Given the description of an element on the screen output the (x, y) to click on. 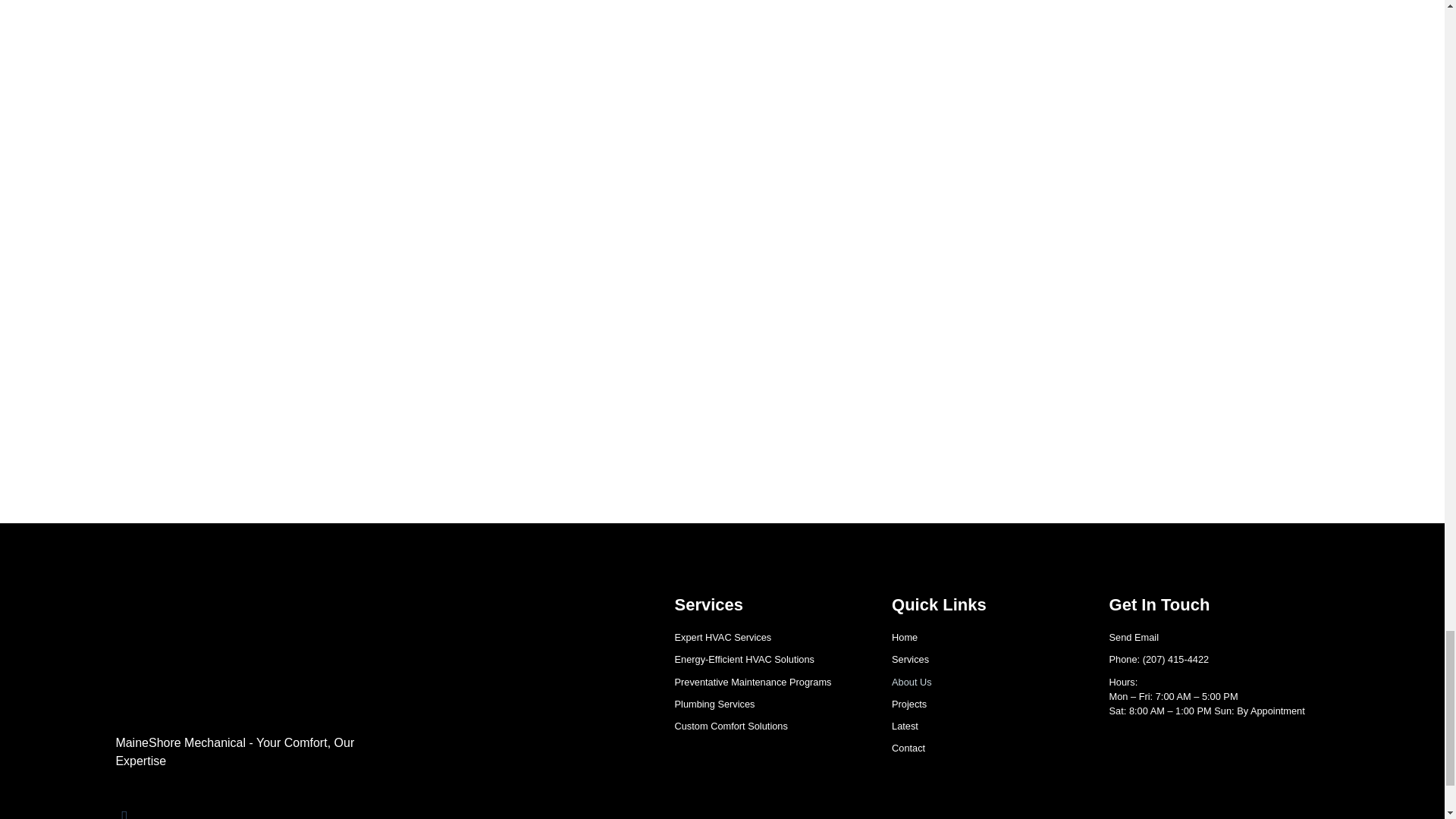
Energy-Efficient HVAC Solutions (768, 658)
Preventative Maintenance Programs (768, 681)
Expert HVAC Services (768, 636)
